Given the description of an element on the screen output the (x, y) to click on. 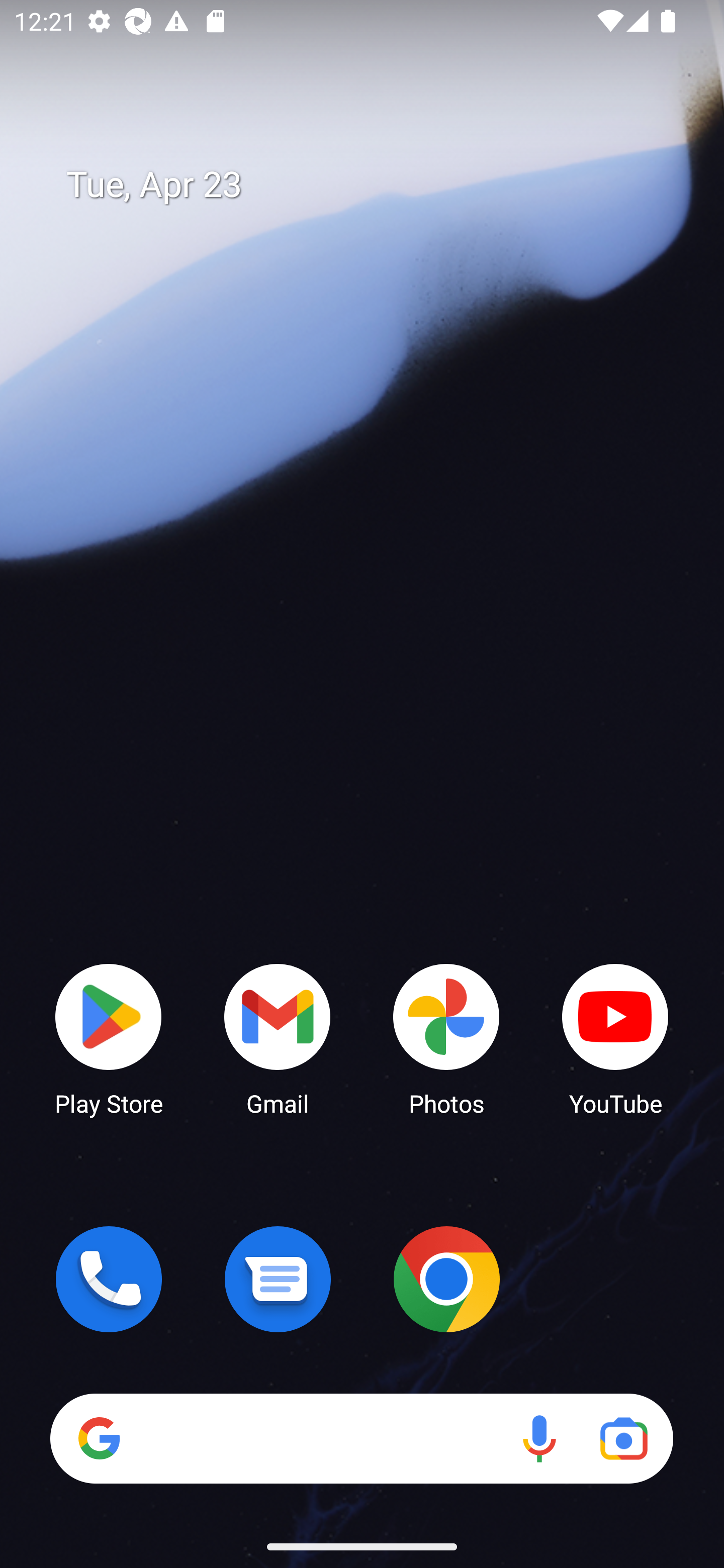
Tue, Apr 23 (375, 184)
Play Store (108, 1038)
Gmail (277, 1038)
Photos (445, 1038)
YouTube (615, 1038)
Phone (108, 1279)
Messages (277, 1279)
Chrome (446, 1279)
Search Voice search Google Lens (361, 1438)
Voice search (539, 1438)
Google Lens (623, 1438)
